Given the description of an element on the screen output the (x, y) to click on. 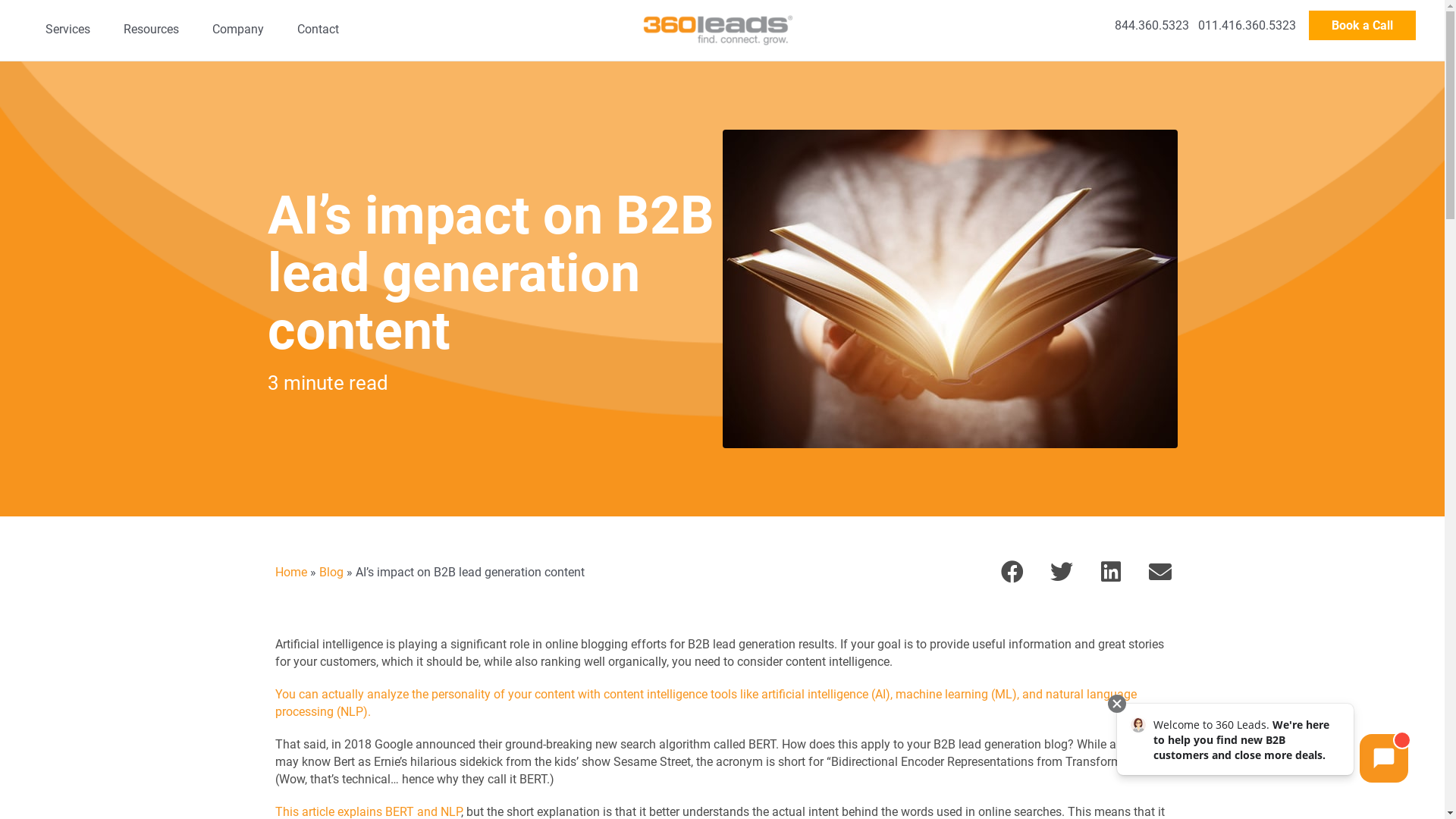
Services Element type: text (67, 28)
Home Element type: text (290, 571)
Contact Element type: text (317, 28)
Blog Element type: text (330, 571)
Chatbot Element type: hover (1262, 744)
Book a Call Element type: text (1361, 25)
844.360.5323 Element type: text (1151, 25)
011.416.360.5323 Element type: text (1246, 25)
